Given the description of an element on the screen output the (x, y) to click on. 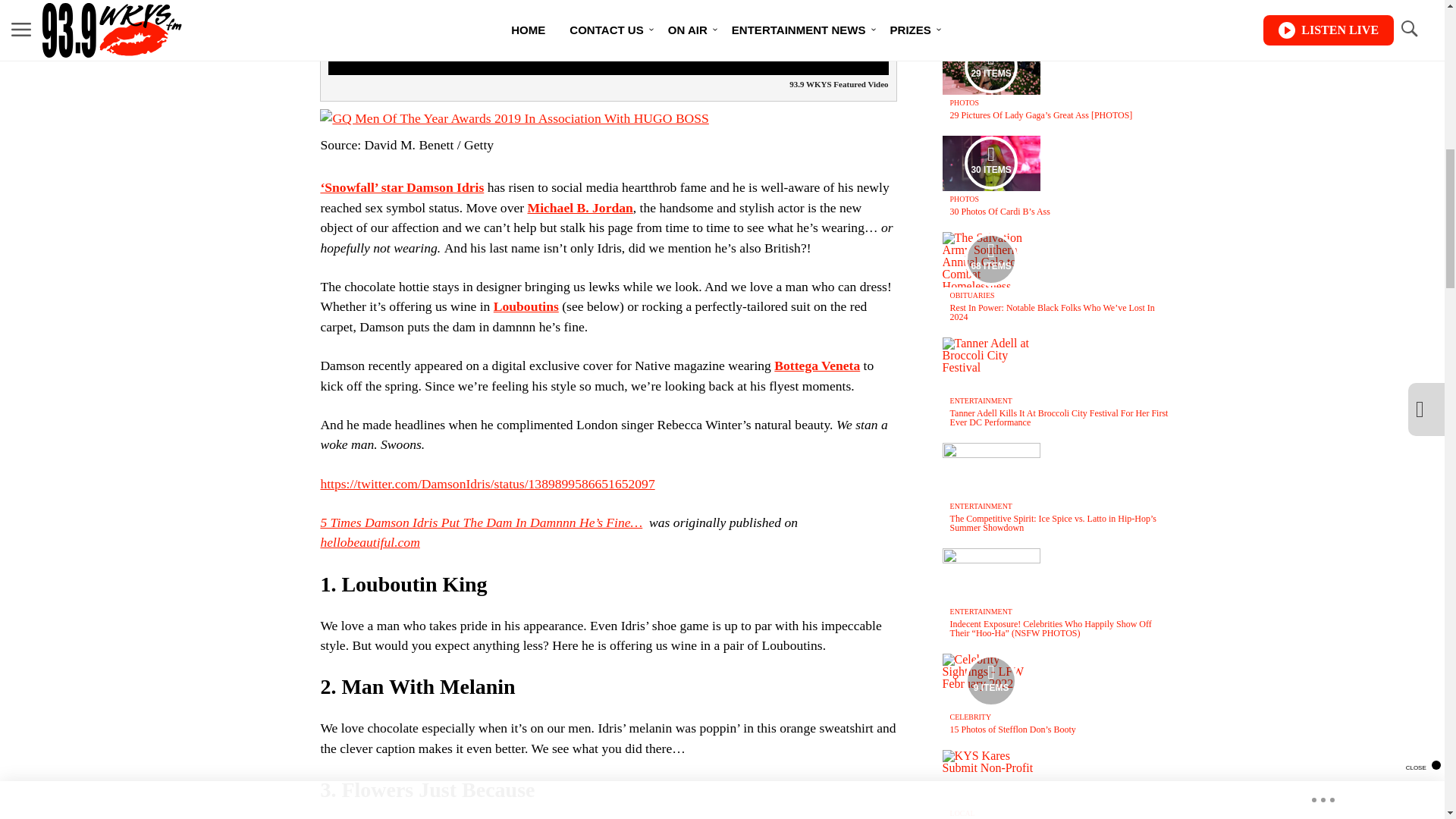
Louboutins (526, 305)
Michael B. Jordan (580, 207)
Media Playlist (990, 162)
Media Playlist (990, 66)
Media Playlist (990, 258)
Media Playlist (990, 680)
